Given the description of an element on the screen output the (x, y) to click on. 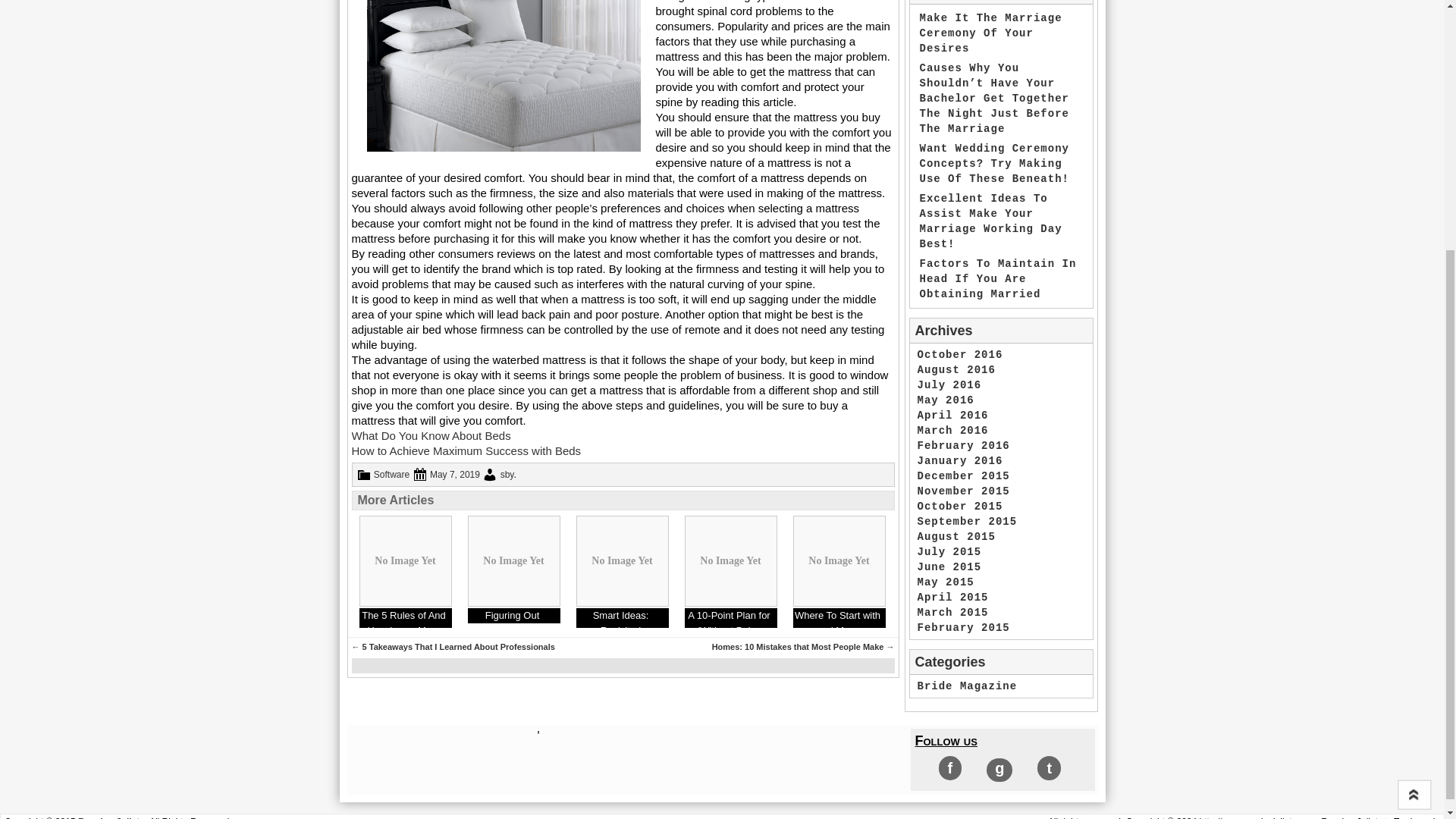
April 2016 (952, 415)
May 2016 (945, 399)
October 2015 (960, 506)
October 2016 (960, 354)
February 2016 (963, 445)
November 2015 (963, 491)
How to Achieve Maximum Success with Beds (466, 450)
Software (391, 474)
6:26 pm (454, 474)
May 7, 2019 (454, 474)
View all posts by sby (506, 474)
January 2016 (960, 460)
What Do You Know About Beds (431, 435)
